Given the description of an element on the screen output the (x, y) to click on. 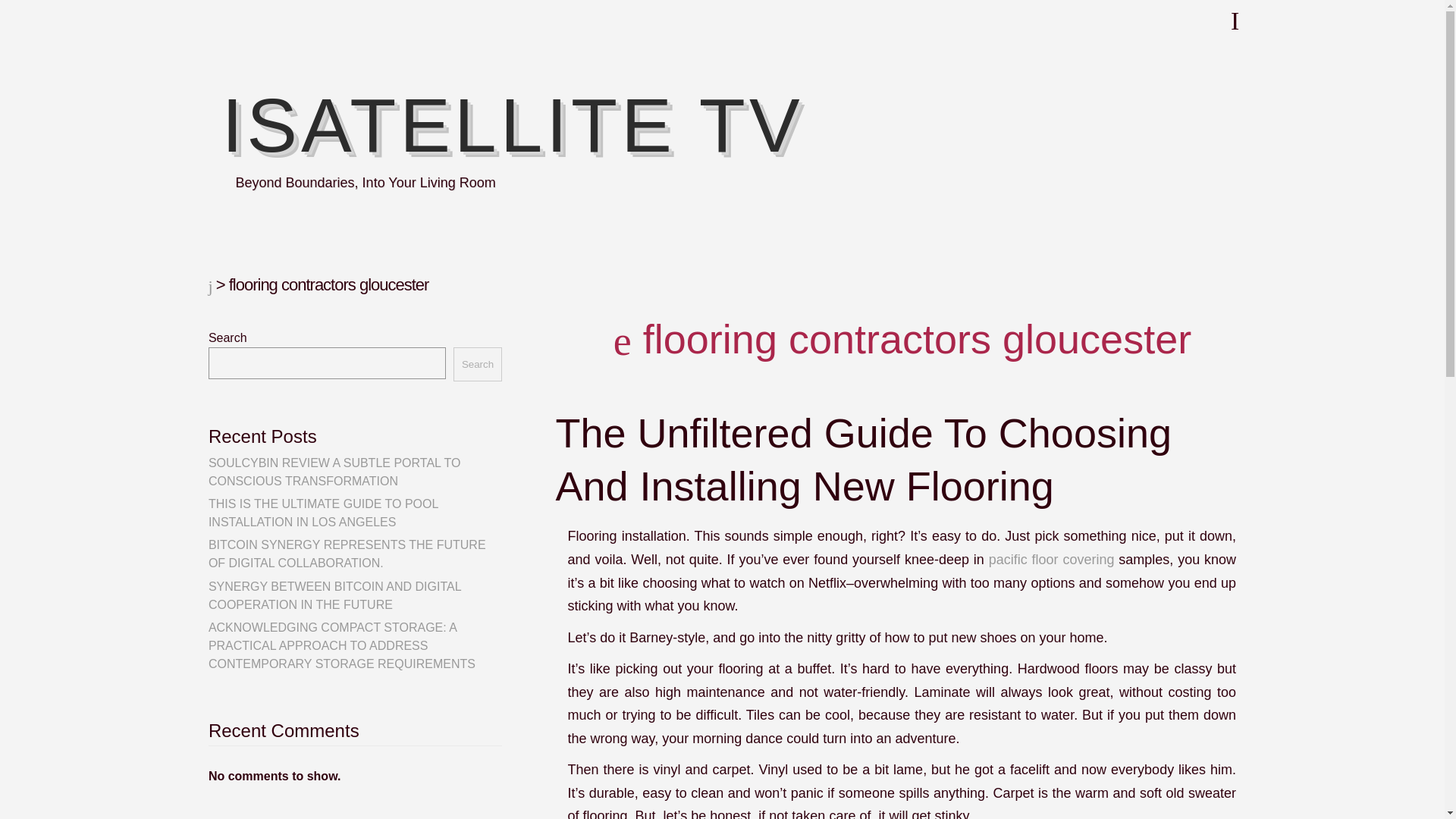
pacific floor covering (1051, 559)
SOULCYBIN REVIEW A SUBTLE PORTAL TO CONSCIOUS TRANSFORMATION (334, 471)
The Unfiltered Guide To Choosing And Installing New Flooring (862, 459)
ISATELLITE TV (512, 124)
Search (477, 364)
